Given the description of an element on the screen output the (x, y) to click on. 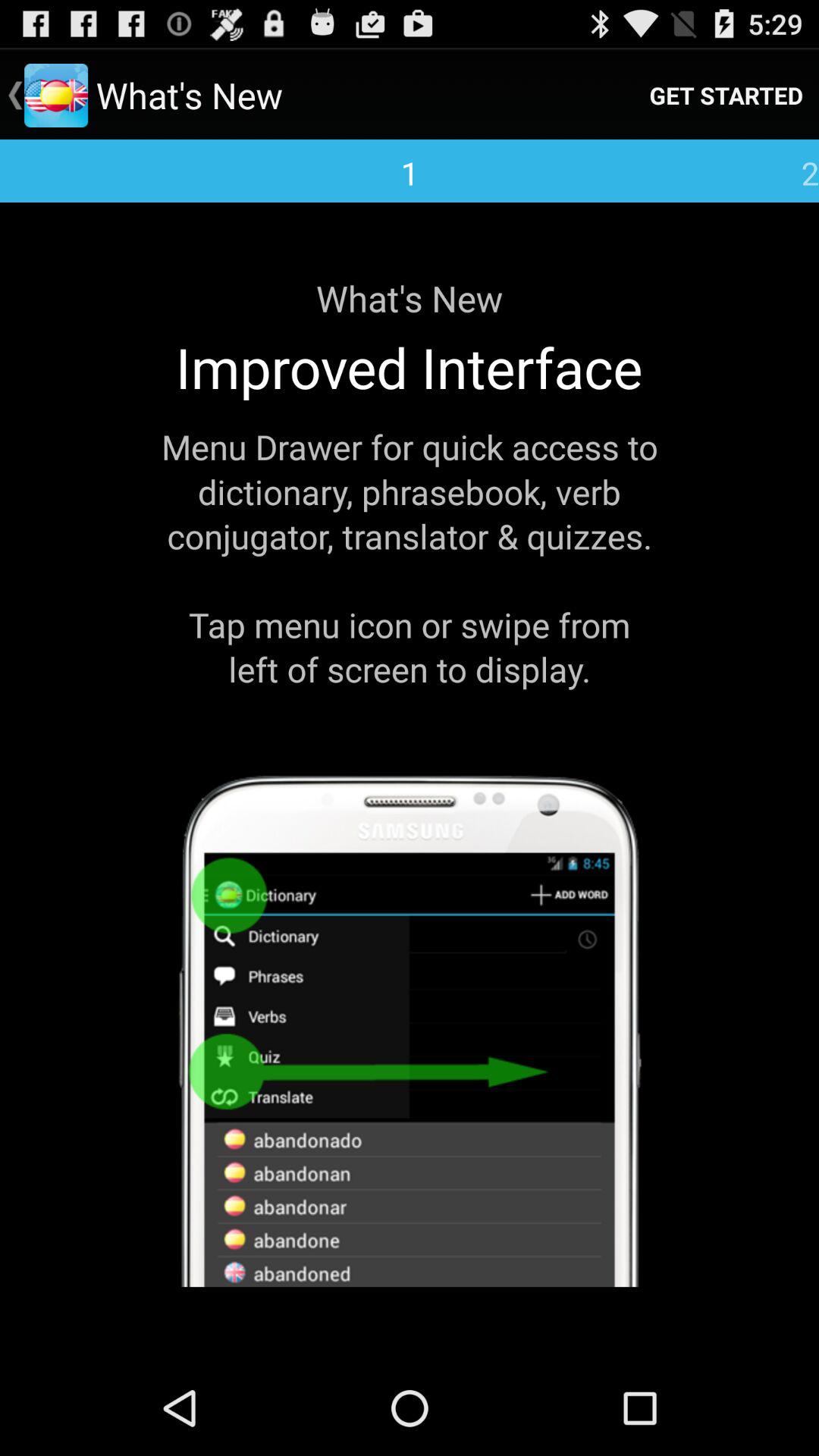
turn off app above 2 icon (726, 95)
